Given the description of an element on the screen output the (x, y) to click on. 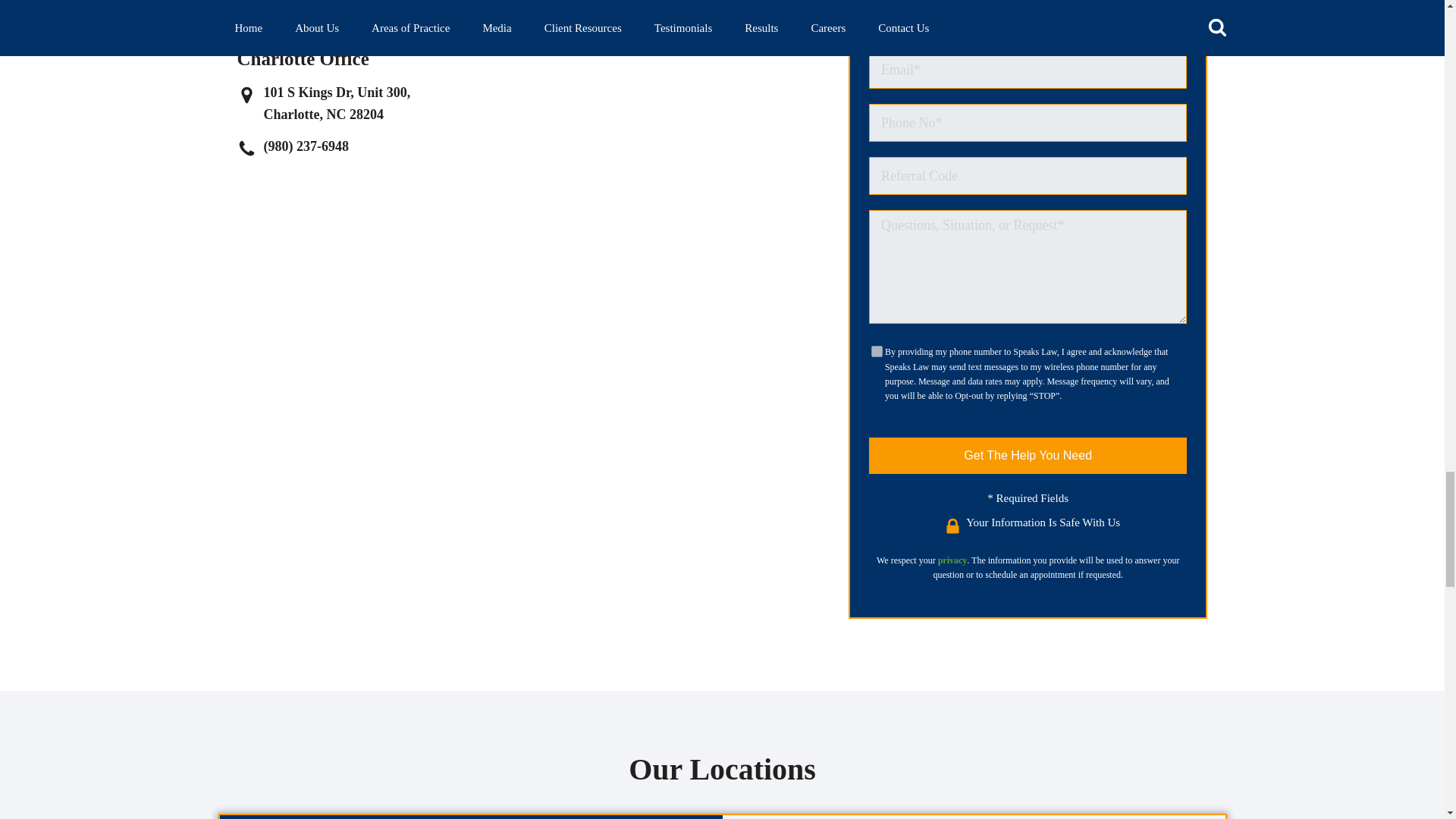
call (249, 9)
on (877, 351)
